Given the description of an element on the screen output the (x, y) to click on. 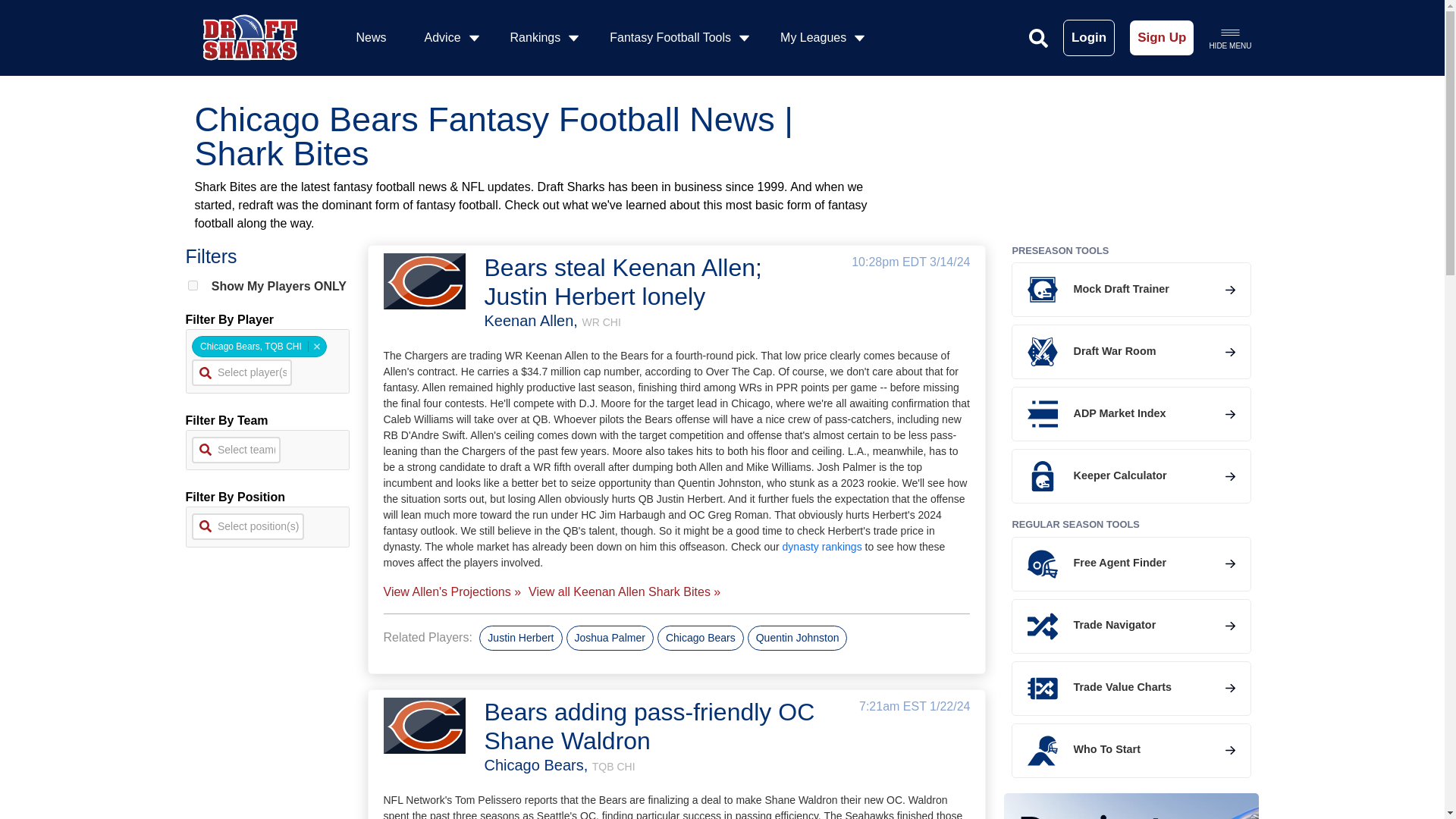
Rankings (541, 38)
Login (1088, 37)
Sign Up (1161, 37)
My Leagues (818, 38)
HIDE MENU (1229, 37)
1 (192, 285)
Fantasy Football Tools (676, 38)
Advice (448, 38)
